Given the description of an element on the screen output the (x, y) to click on. 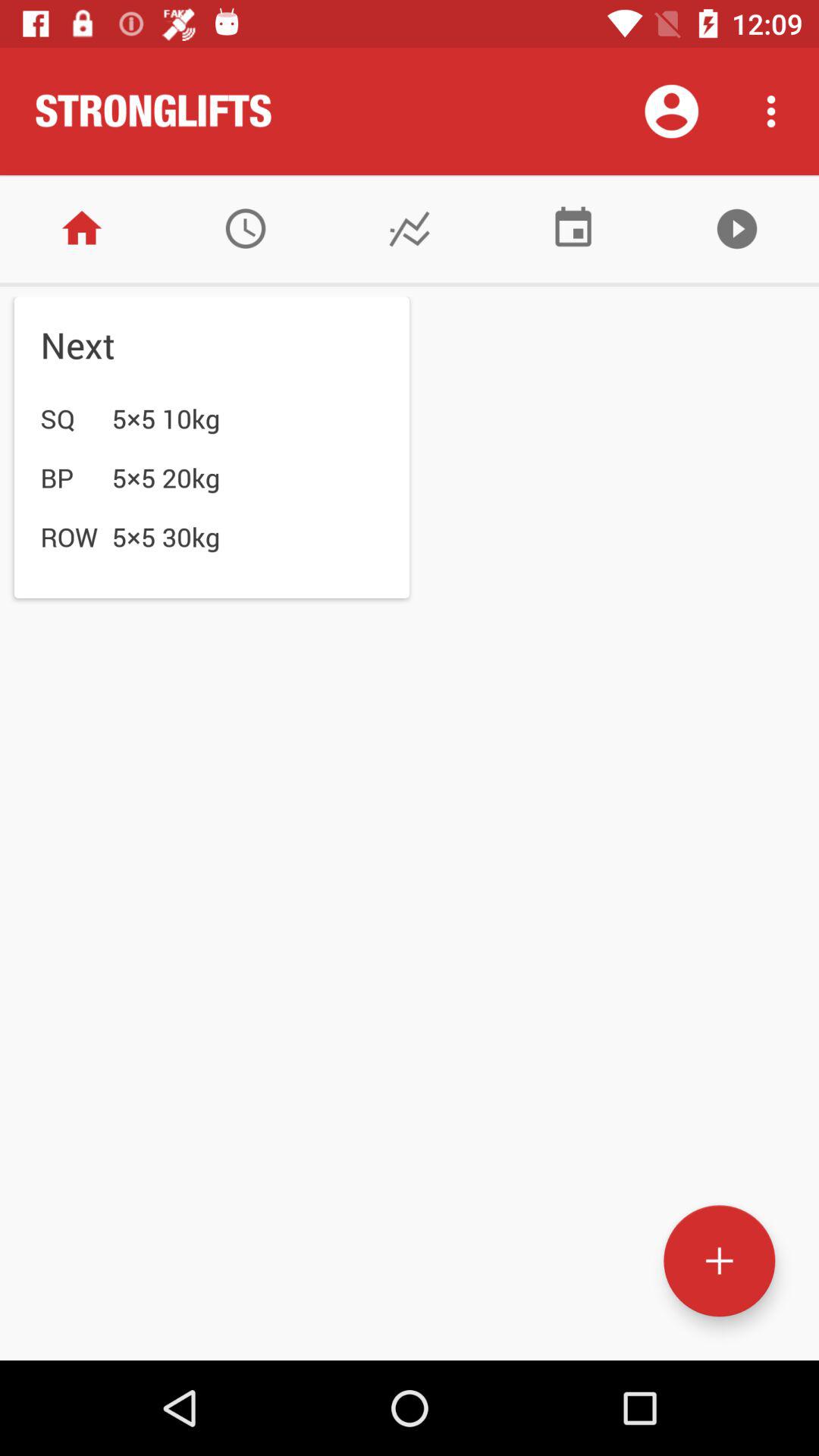
a workout log option (409, 228)
